Given the description of an element on the screen output the (x, y) to click on. 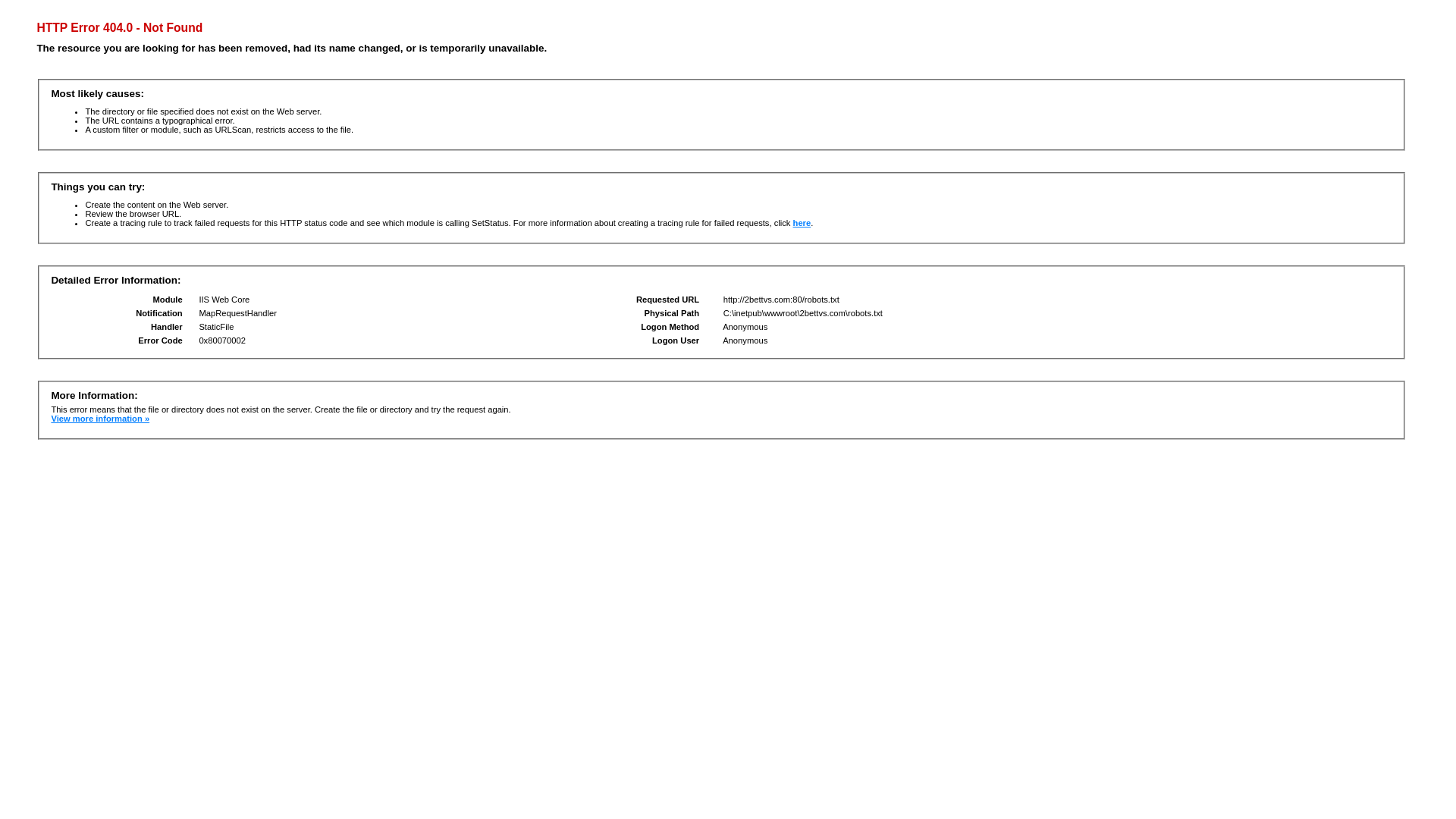
here Element type: text (802, 222)
